Given the description of an element on the screen output the (x, y) to click on. 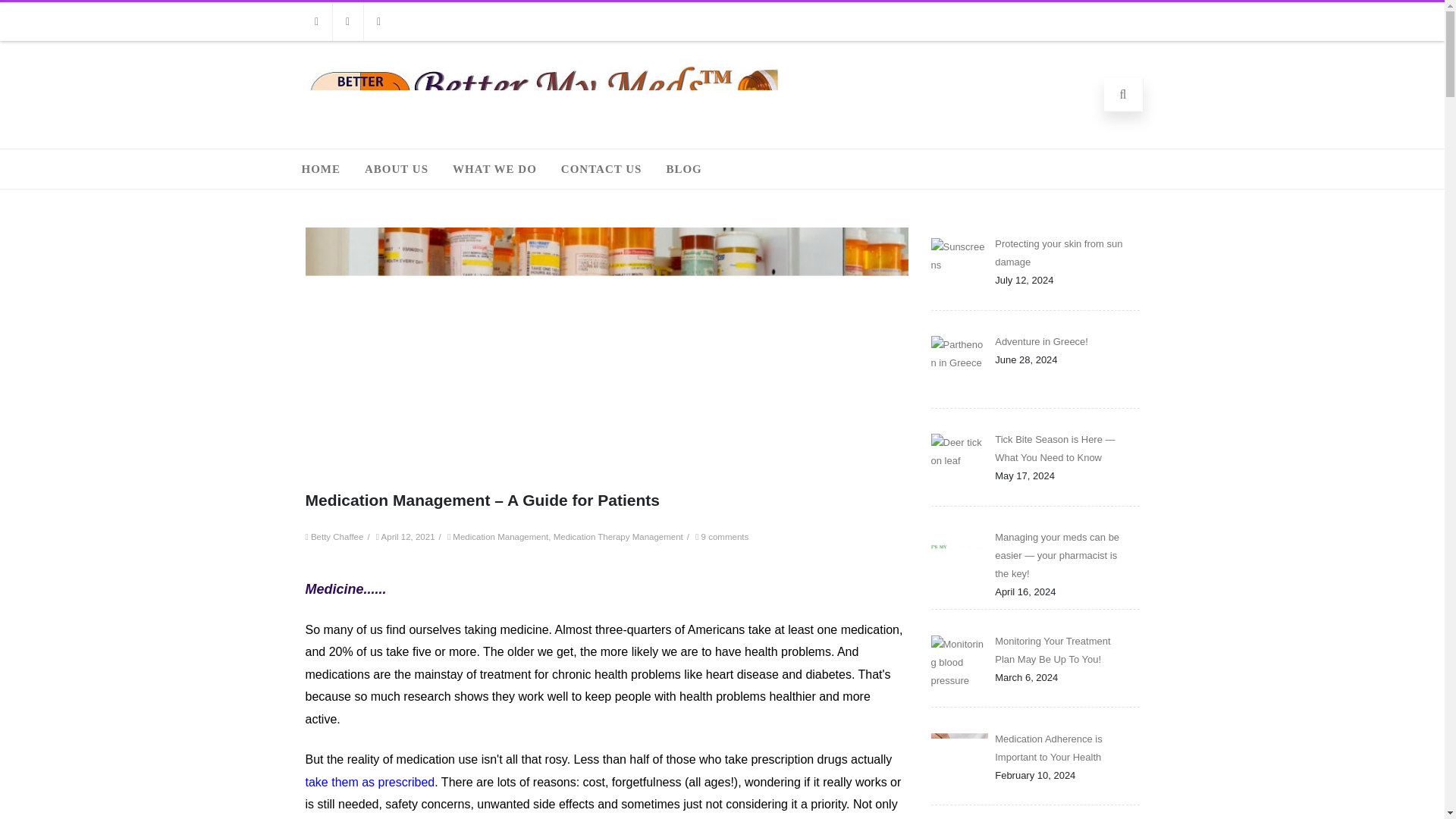
ABOUT US (396, 169)
HOME (320, 169)
take them as prescribed (368, 781)
BLOG (683, 169)
WHAT WE DO (494, 169)
BetterMyMeds (545, 124)
Medication Therapy Management (617, 536)
Betty Chaffee (336, 536)
Medication Management (500, 536)
CONTACT US (601, 169)
Betty Chaffee (336, 536)
9 comments (725, 536)
